Given the description of an element on the screen output the (x, y) to click on. 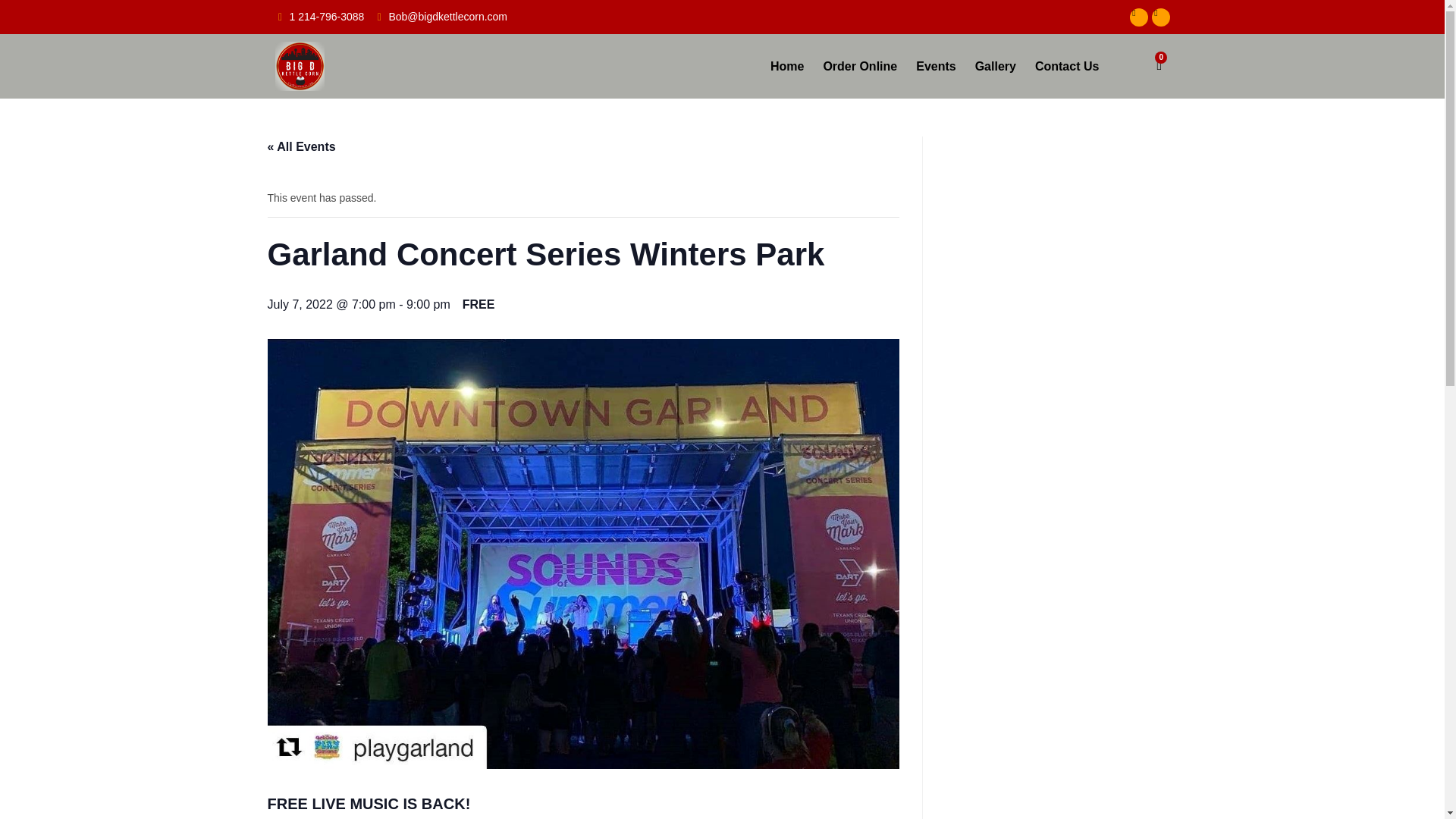
Contact Us (1066, 66)
Events (935, 66)
Order Online (859, 66)
Home (786, 66)
Gallery (995, 66)
1 214-796-3088 (319, 16)
